Given the description of an element on the screen output the (x, y) to click on. 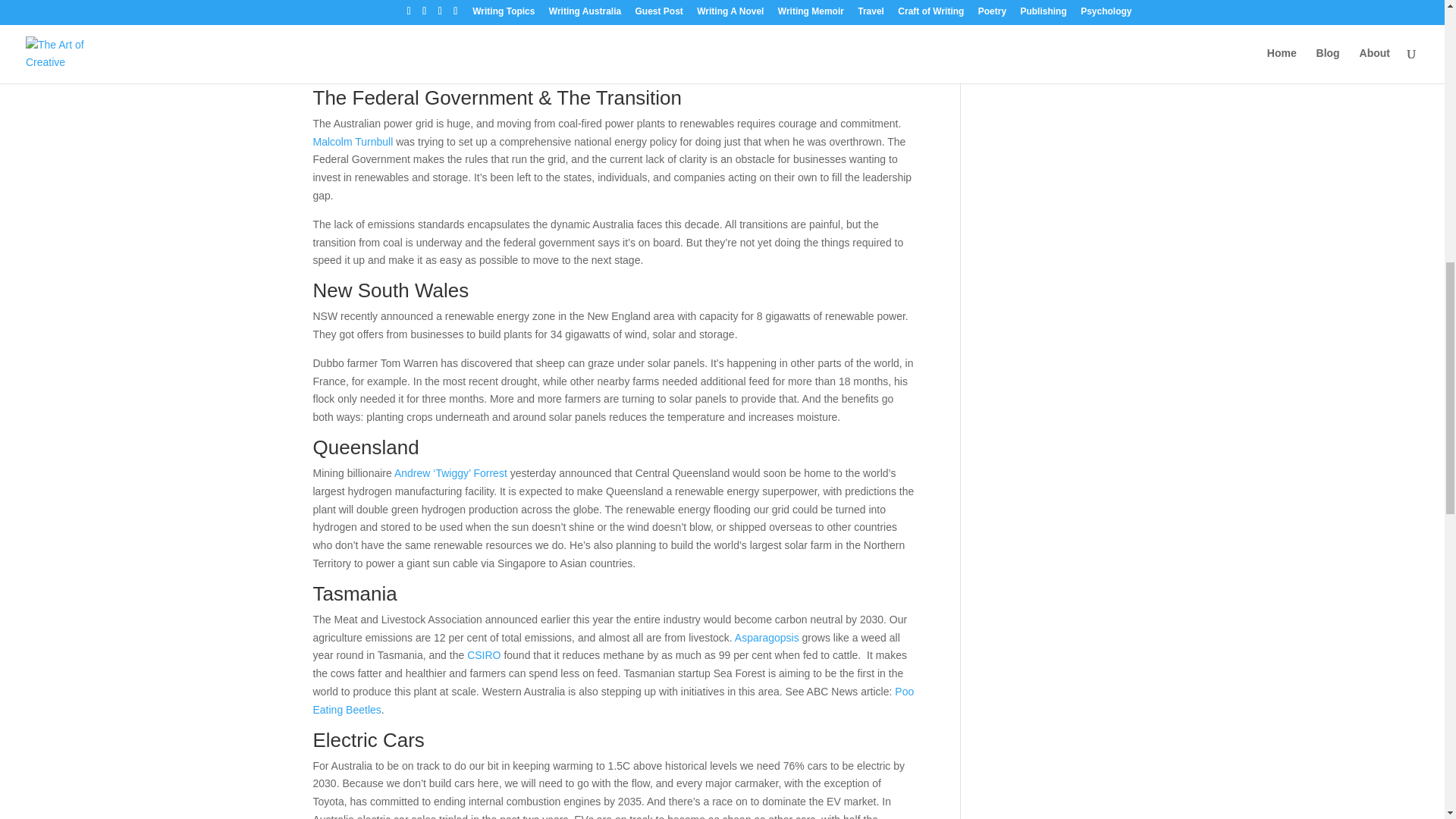
Asparagopsis (767, 637)
Malcolm Turnbull (354, 141)
The Tesla Battery (492, 30)
CSIRO (483, 654)
Poo Eating Beetles (613, 700)
